Given the description of an element on the screen output the (x, y) to click on. 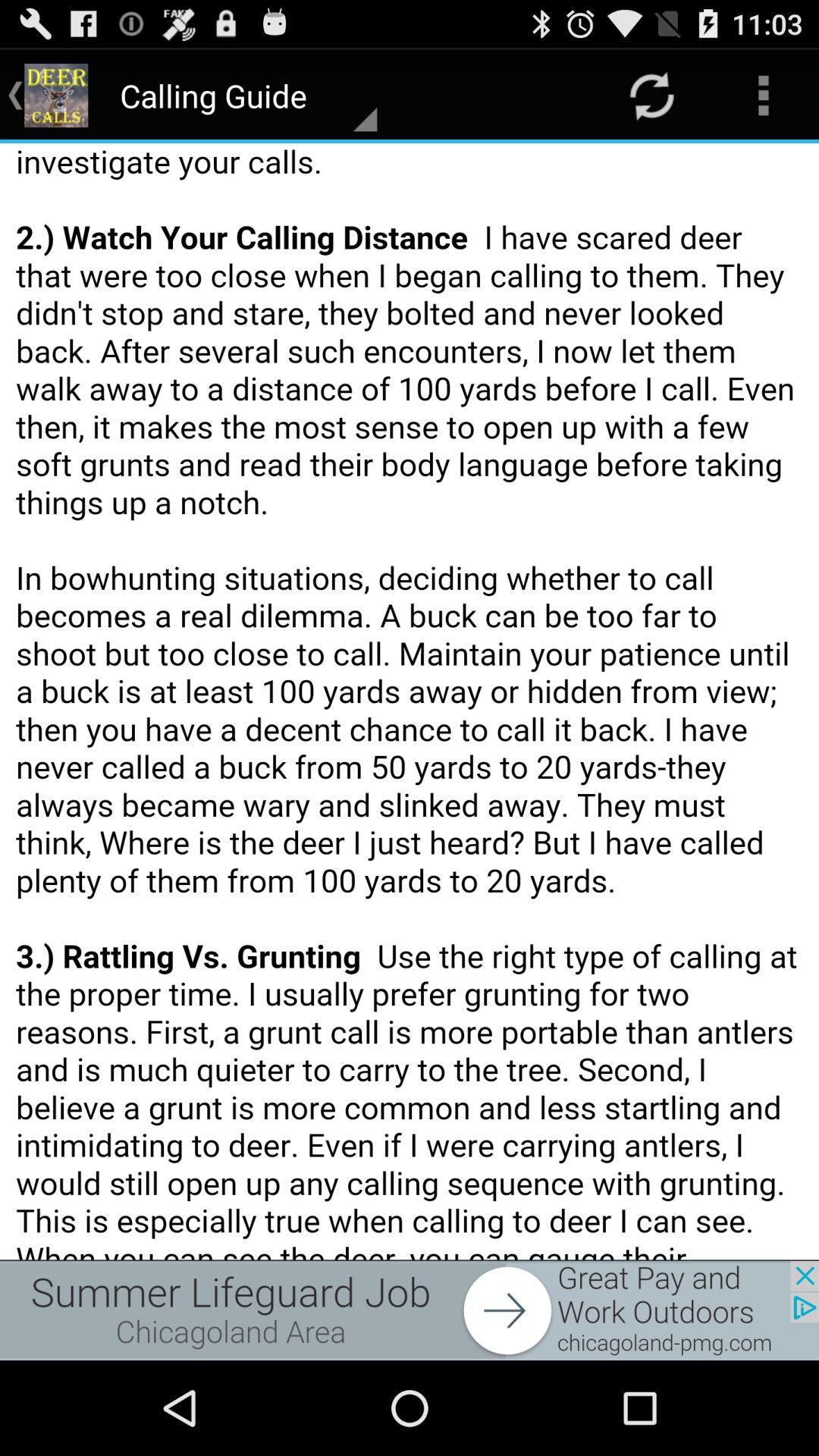
file option (409, 701)
